Given the description of an element on the screen output the (x, y) to click on. 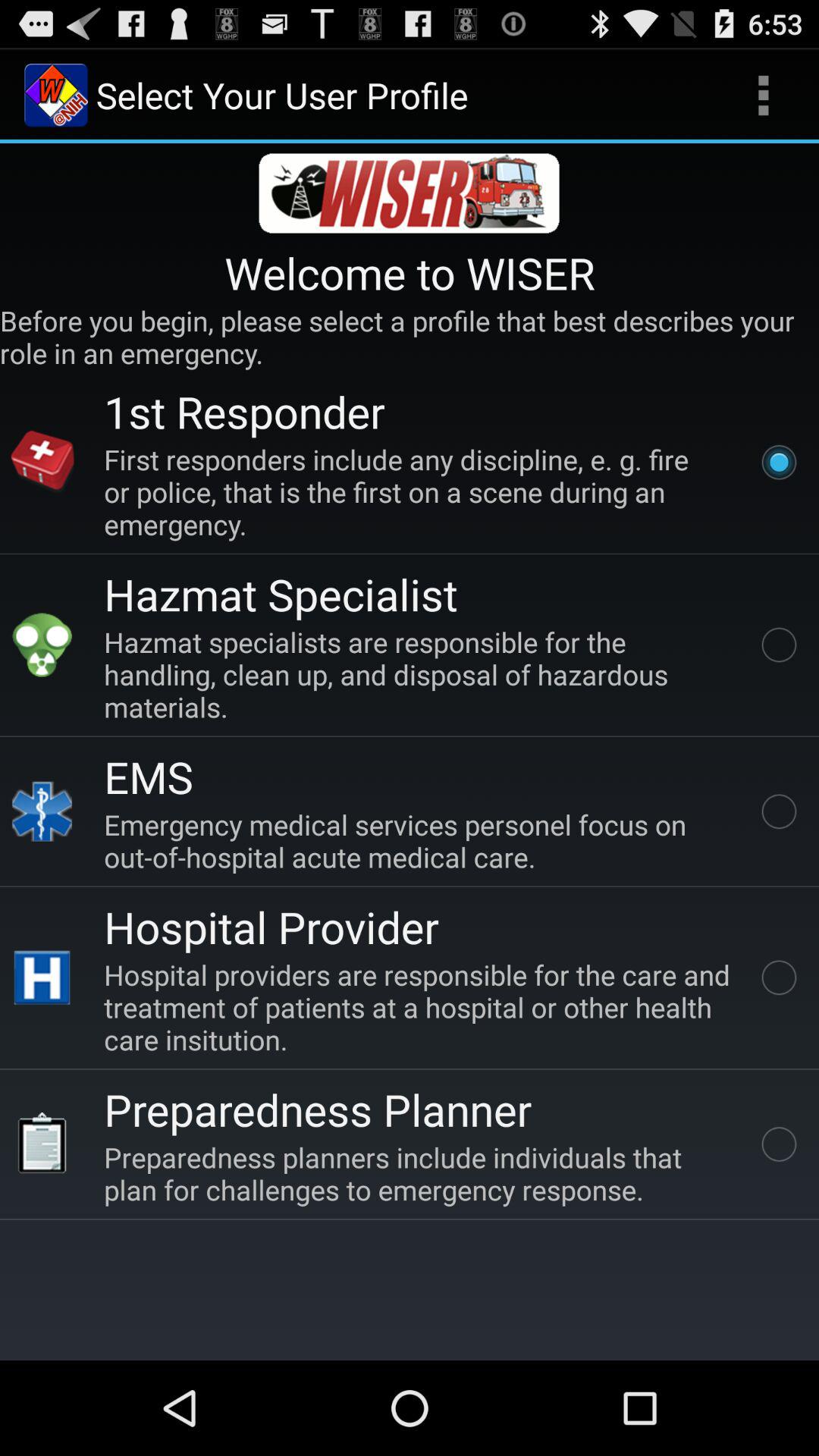
choose app above the hazmat specialists are icon (280, 593)
